Given the description of an element on the screen output the (x, y) to click on. 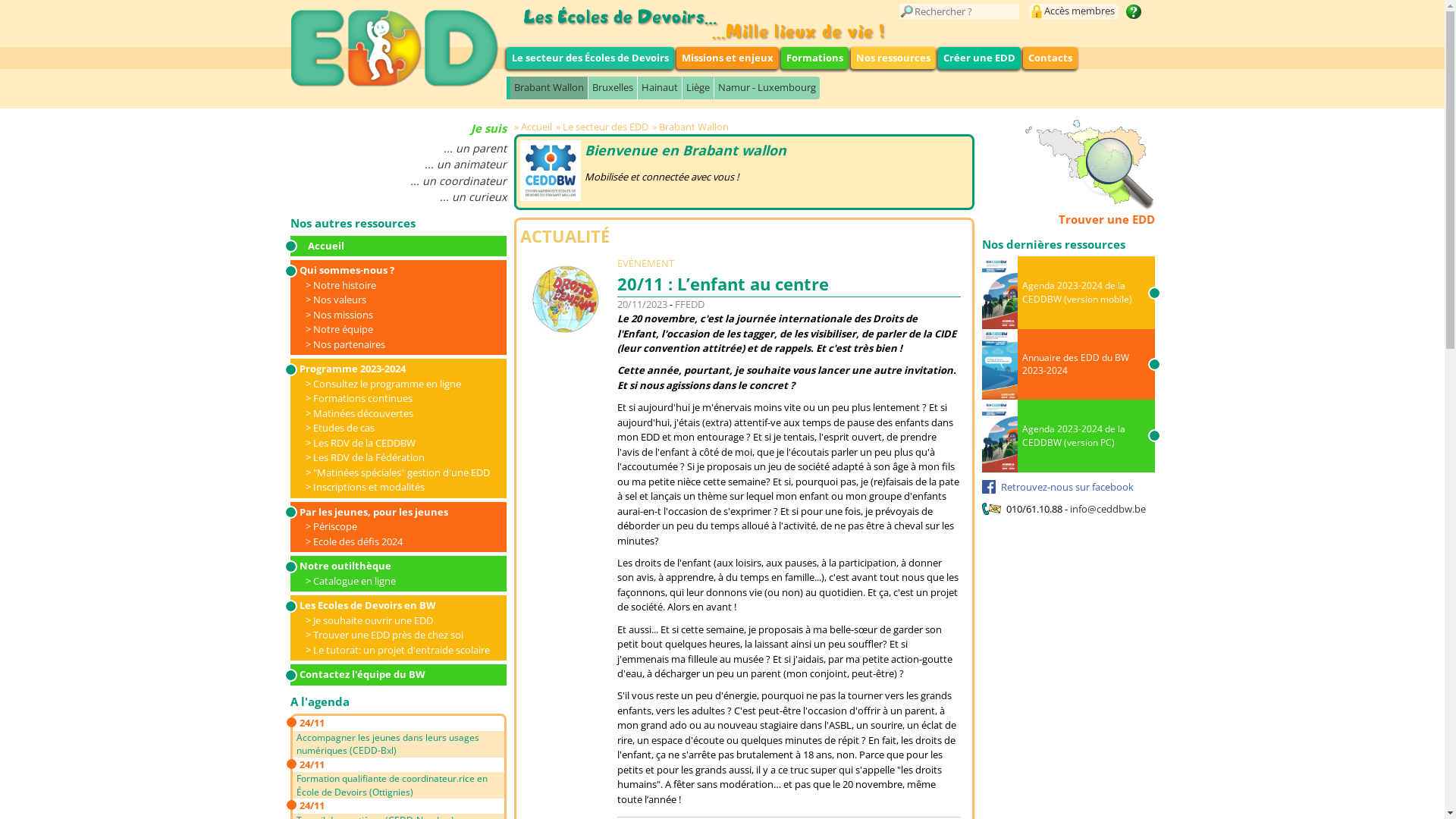
Agenda 2023-2024 de la CEDDBW (version PC) Element type: text (1067, 435)
Annuaire des EDD du BW 2023-2024 Element type: text (1067, 364)
... un parent Element type: text (397, 148)
Consultez le programme en ligne Element type: text (382, 383)
... un curieux Element type: text (397, 196)
Le secteur des EDD Element type: text (603, 126)
Formations Element type: text (814, 58)
Par les jeunes, pour les jeunes Element type: text (394, 512)
A l'agenda Element type: text (318, 701)
Nos valeurs Element type: text (334, 299)
Hainaut Element type: text (659, 87)
Notre histoire Element type: text (339, 284)
Nos ressources Element type: text (892, 58)
Nos partenaires Element type: text (344, 344)
... un animateur Element type: text (397, 164)
info@ceddbw.be Element type: text (1107, 508)
Le tutorat: un projet d'entraide scolaire Element type: text (396, 649)
Missions et enjeux Element type: text (727, 58)
Les RDV de la CEDDBW Element type: text (359, 442)
Nos missions Element type: text (338, 314)
Retrouvez-nous sur facebook Element type: text (1056, 485)
Les Ecoles de Devoirs en BW Element type: text (394, 605)
Accueil Element type: text (534, 126)
Catalogue en ligne Element type: text (349, 580)
  Element type: text (1132, 10)
Etudes de cas Element type: text (338, 427)
Brabant Wallon Element type: text (547, 87)
Bruxelles Element type: text (611, 87)
Brabant Wallon Element type: text (692, 126)
Trouver une EDD Element type: text (1067, 173)
Agenda 2023-2024 de la CEDDBW (version mobile) Element type: text (1067, 292)
Namur - Luxembourg Element type: text (765, 87)
Programme 2023-2024 Element type: text (394, 368)
Contacts Element type: text (1049, 58)
Qui sommes-nous ? Element type: text (394, 270)
... un coordinateur Element type: text (397, 180)
Je souhaite ouvrir une EDD Element type: text (368, 620)
Formations continues Element type: text (357, 397)
